Given the description of an element on the screen output the (x, y) to click on. 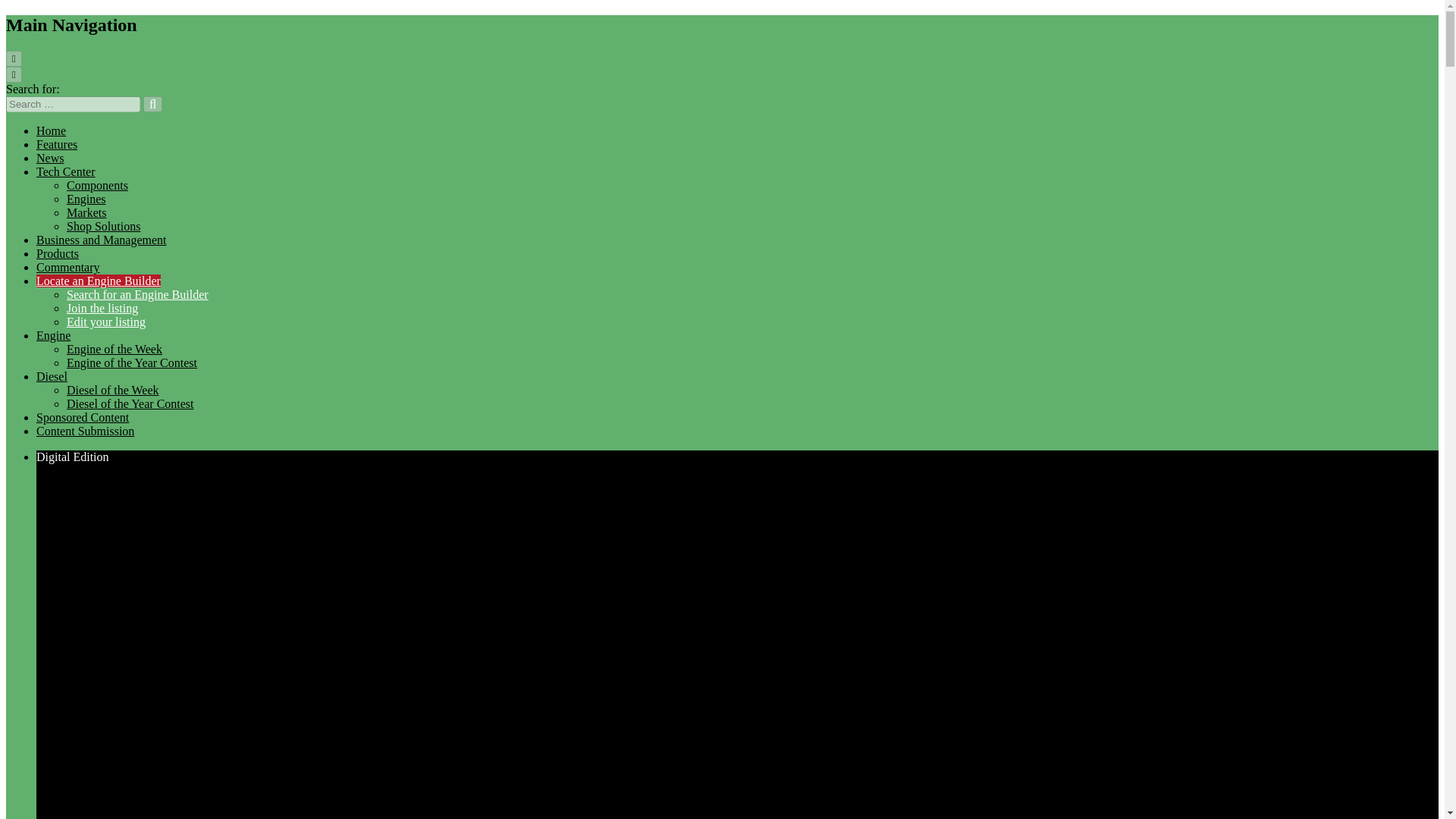
Diesel (51, 376)
Sponsored Content (82, 417)
Engine of the Week (113, 349)
Commentary (68, 267)
Home (50, 130)
Locate an Engine Builder (98, 280)
Products (57, 253)
Tech Center (66, 171)
Components (97, 185)
Locate an Engine Builder (98, 280)
Business and Management (101, 239)
Tech Center (66, 171)
News (50, 157)
Content Submission (84, 431)
Features (56, 144)
